Given the description of an element on the screen output the (x, y) to click on. 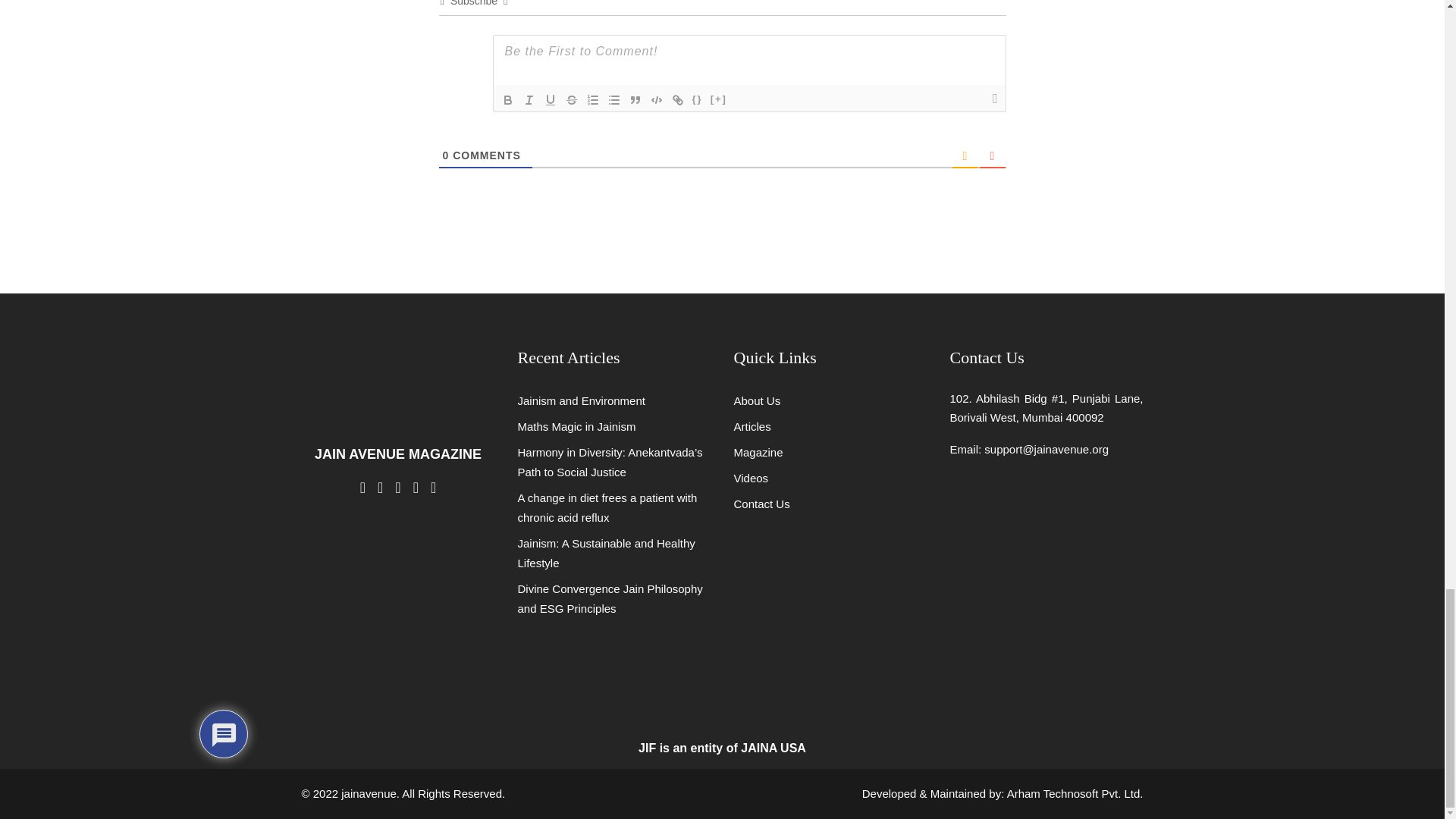
ordered (593, 99)
bullet (614, 99)
Source Code (697, 99)
Bold (507, 99)
Underline (550, 99)
Strike (571, 99)
Ordered List (593, 99)
Spoiler (718, 99)
Link (677, 99)
Italic (529, 99)
Blockquote (635, 99)
Unordered List (614, 99)
Code Block (656, 99)
